Given the description of an element on the screen output the (x, y) to click on. 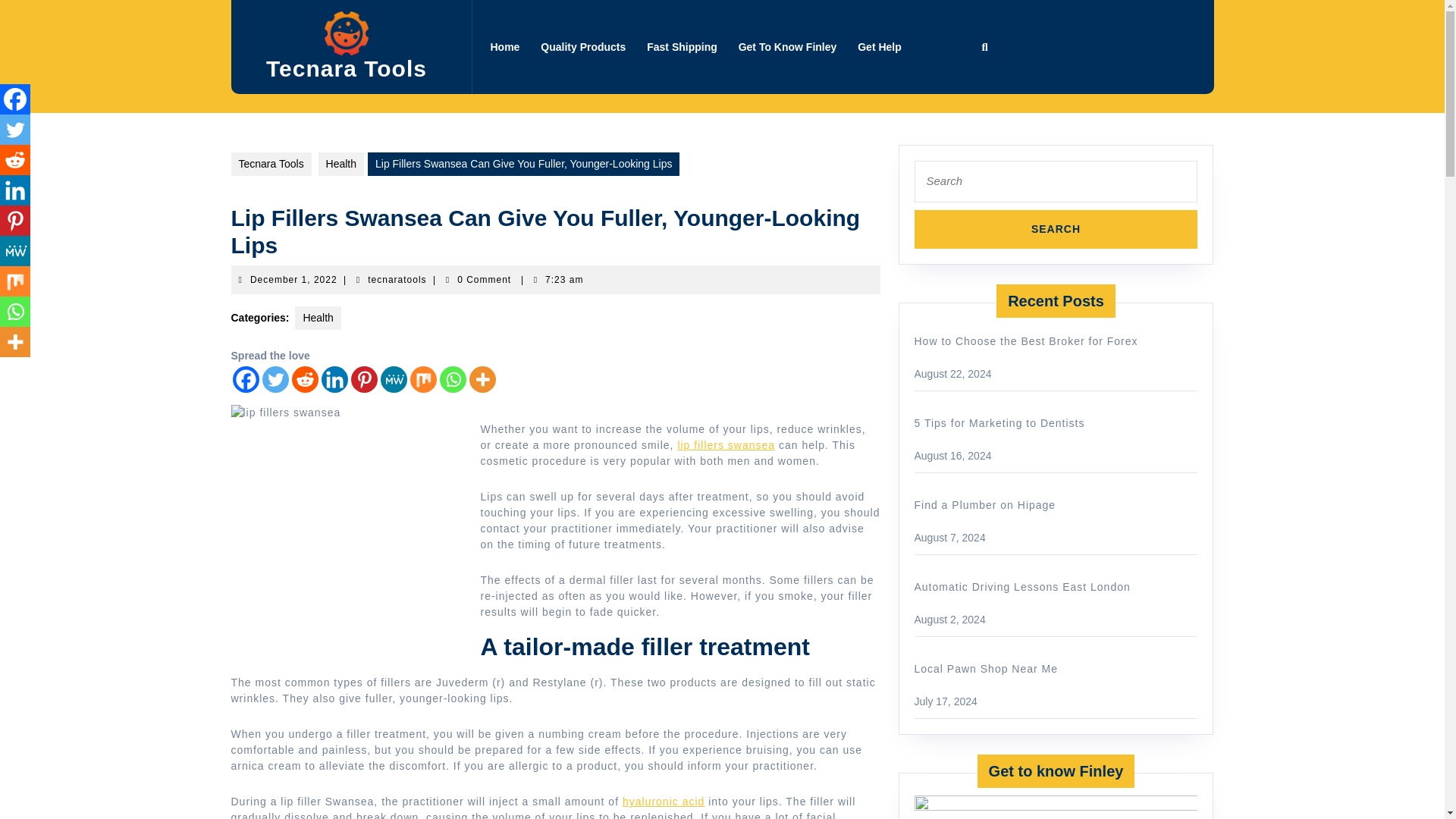
Facebook (15, 99)
Quality Products (582, 47)
Linkedin (293, 279)
Get To Know Finley (15, 190)
Pinterest (787, 47)
lip fillers swansea (363, 379)
Home (725, 444)
Reddit (504, 47)
